Given the description of an element on the screen output the (x, y) to click on. 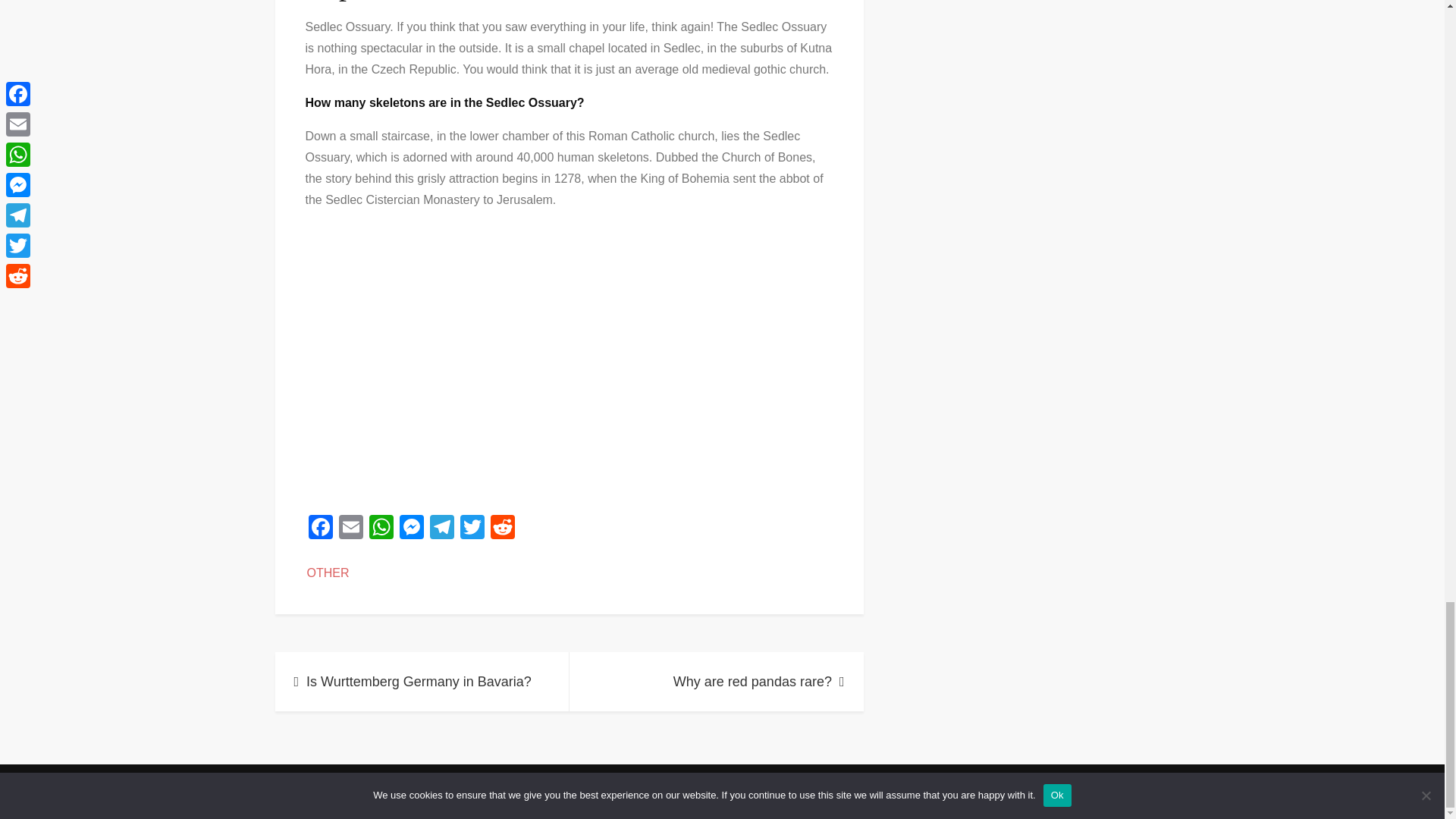
Sensational Theme (858, 788)
OTHER (327, 572)
Telegram (441, 528)
Telegram (441, 528)
Reddit (501, 528)
WhatsApp (380, 528)
Is Wurttemberg Germany in Bavaria? (422, 681)
Facebook (319, 528)
Facebook (319, 528)
WhatsApp (380, 528)
Messenger (411, 528)
Email (349, 528)
Why are red pandas rare? (716, 681)
Twitter (471, 528)
Email (349, 528)
